Given the description of an element on the screen output the (x, y) to click on. 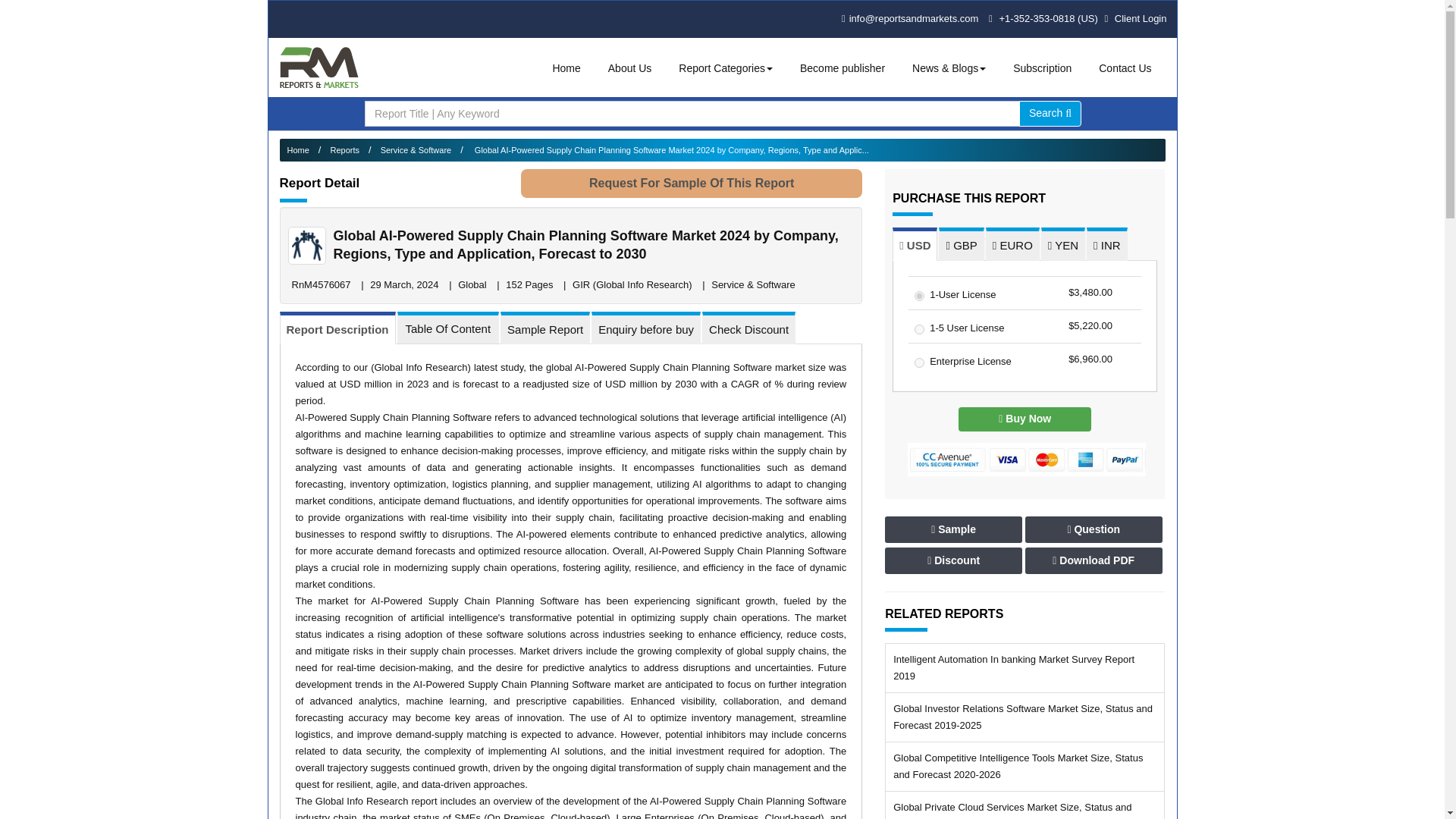
Become publisher (842, 67)
Report Categories (725, 67)
About Us (630, 67)
Home (566, 67)
Request for FREE Sample of this report (691, 183)
Client Login (1134, 18)
